Given the description of an element on the screen output the (x, y) to click on. 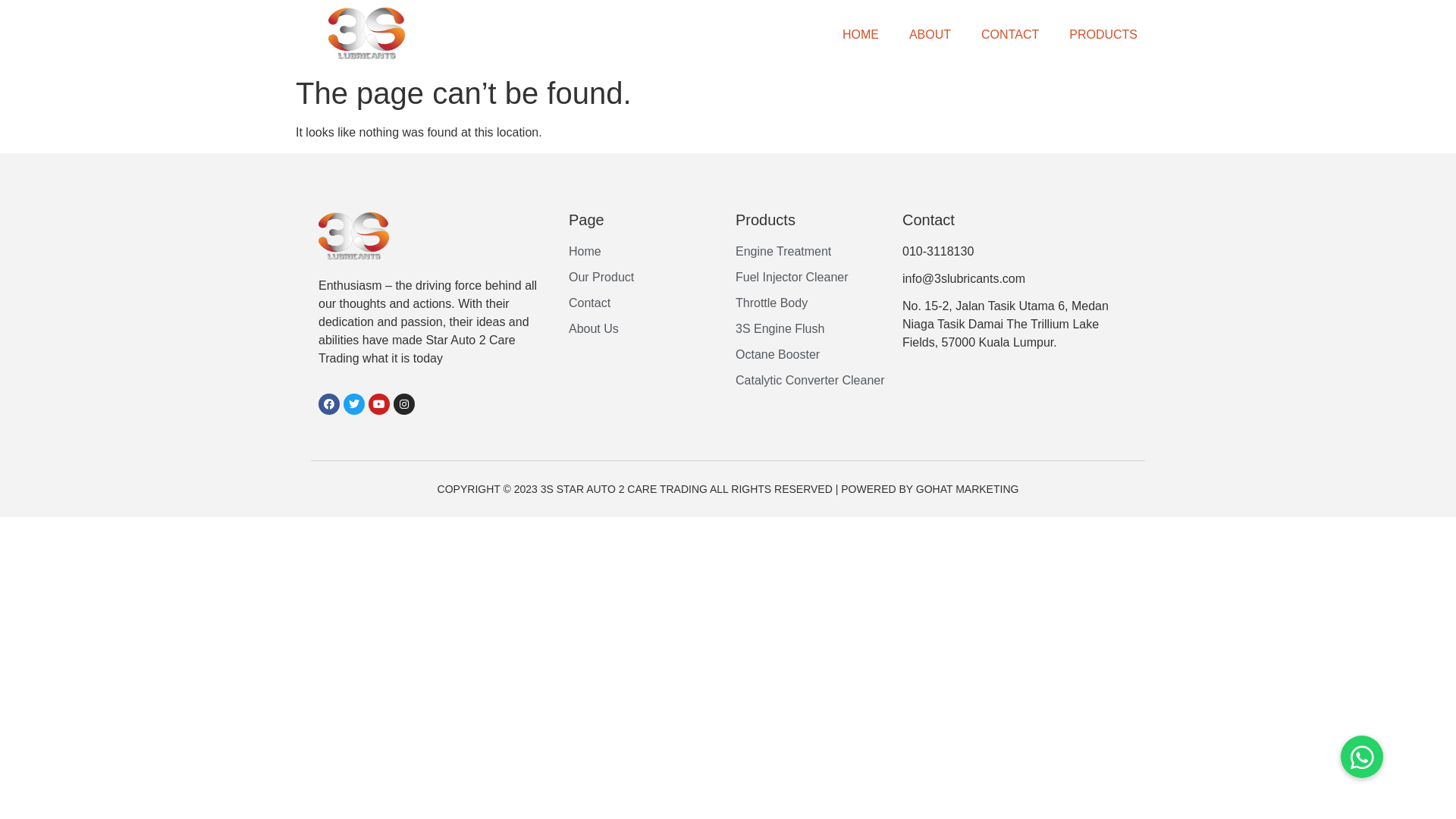
Contact Element type: text (644, 303)
Engine Treatment Element type: text (811, 251)
3S Engine Flush Element type: text (811, 329)
CONTACT Element type: text (1010, 34)
Home Element type: text (644, 251)
GOHAT MARKETING Element type: text (967, 489)
ABOUT Element type: text (930, 34)
HOME Element type: text (860, 34)
Fuel Injector Cleaner Element type: text (811, 277)
About Us Element type: text (644, 329)
Octane Booster Element type: text (811, 354)
PRODUCTS Element type: text (1103, 34)
Our Product Element type: text (644, 277)
Throttle Body Element type: text (811, 303)
Catalytic Converter Cleaner Element type: text (811, 380)
